Given the description of an element on the screen output the (x, y) to click on. 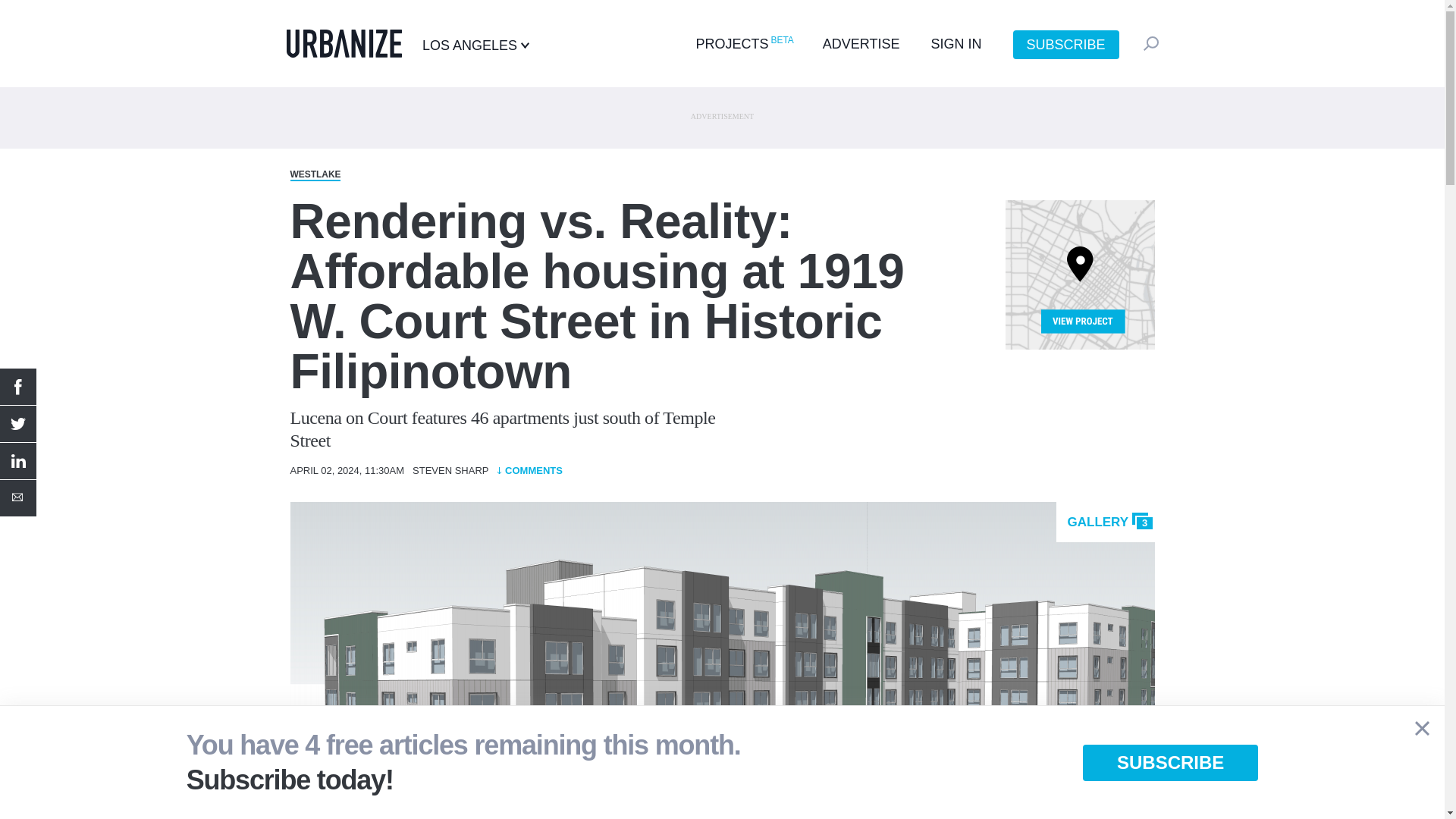
SIGN IN (956, 43)
ADVERTISE (860, 43)
PROJECTSBETA (742, 43)
SUBSCRIBE (1066, 44)
Share by Facebook (18, 386)
LOS ANGELES (475, 45)
Share by email (18, 497)
Share by Twitter (18, 423)
Share by LinkedIn (18, 461)
